Given the description of an element on the screen output the (x, y) to click on. 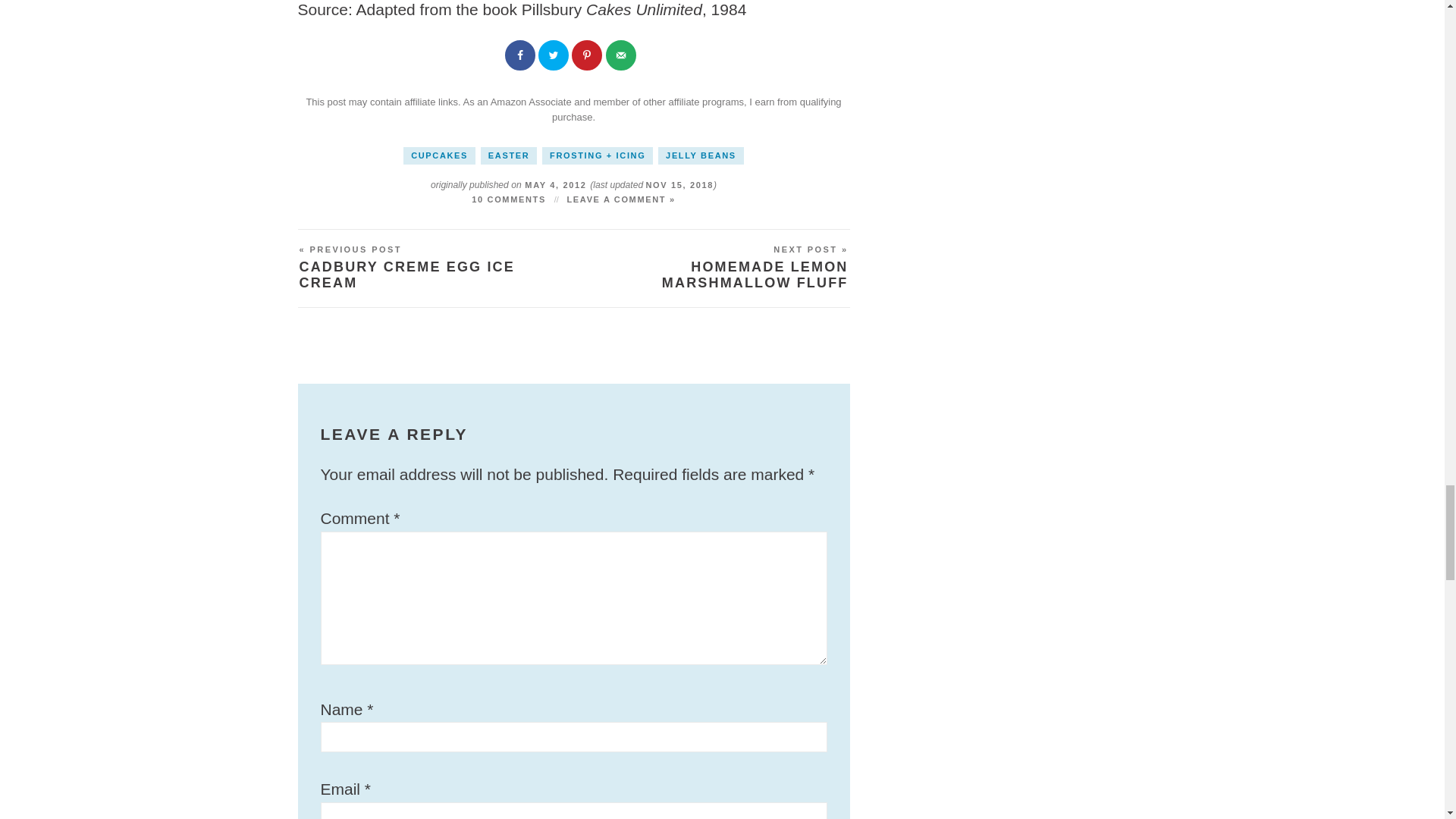
Save to Pinterest (588, 56)
Send over email (622, 56)
Share on Twitter (555, 56)
Share on Facebook (521, 56)
